Given the description of an element on the screen output the (x, y) to click on. 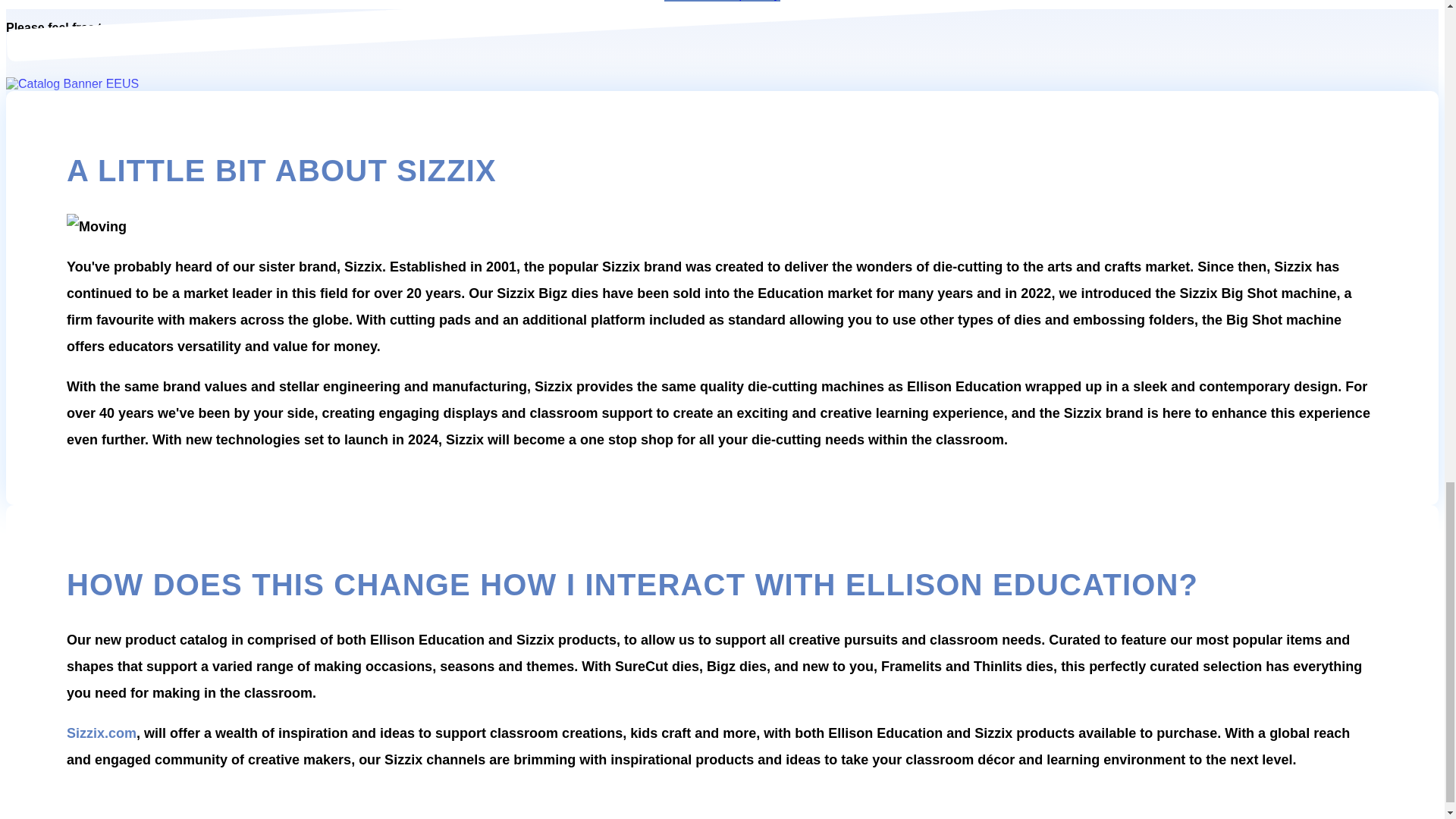
contact us here (157, 27)
Visit School Specialty (721, 0)
Sizzix.com (101, 733)
